Given the description of an element on the screen output the (x, y) to click on. 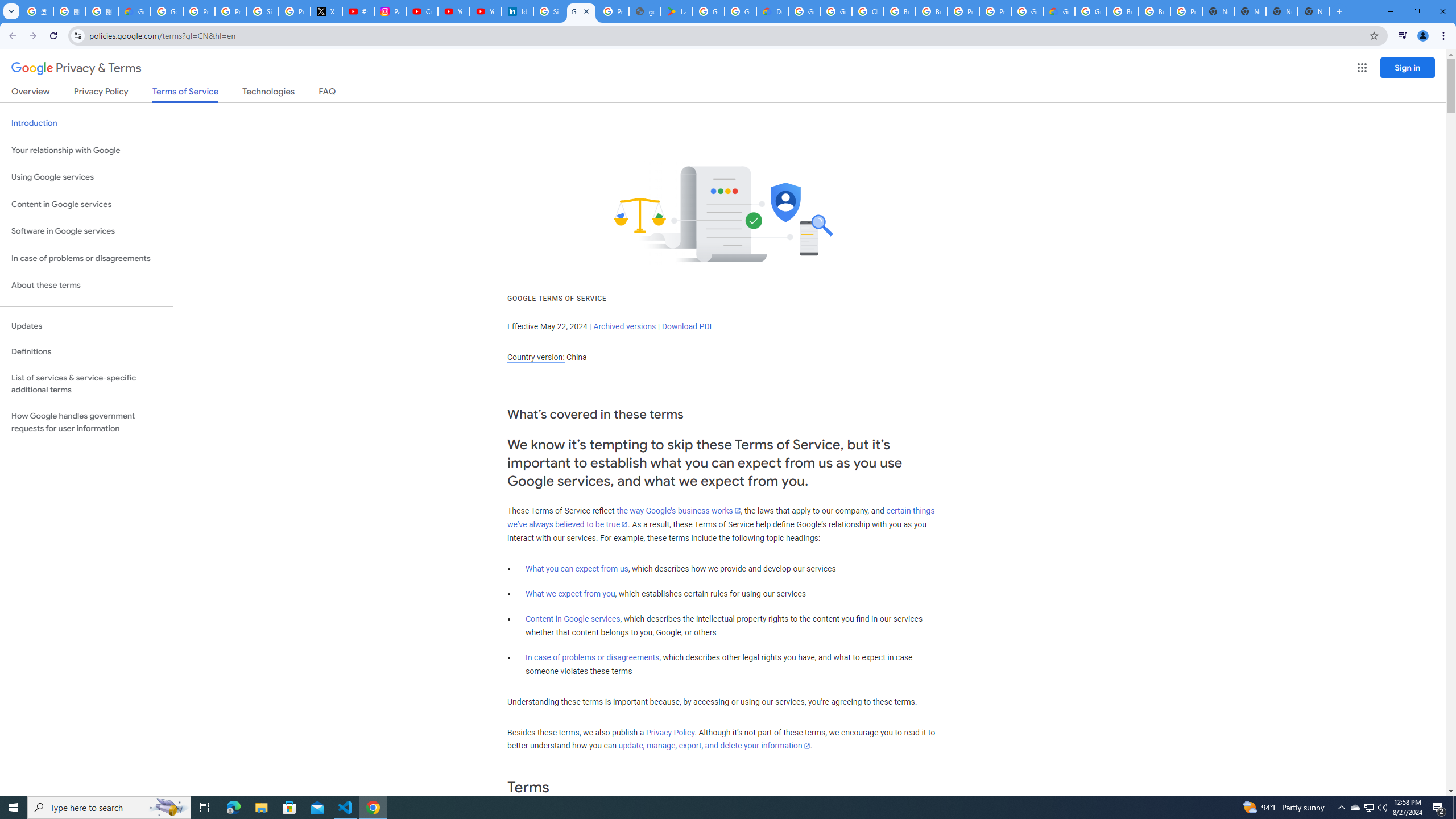
Google Cloud Privacy Notice (134, 11)
